Given the description of an element on the screen output the (x, y) to click on. 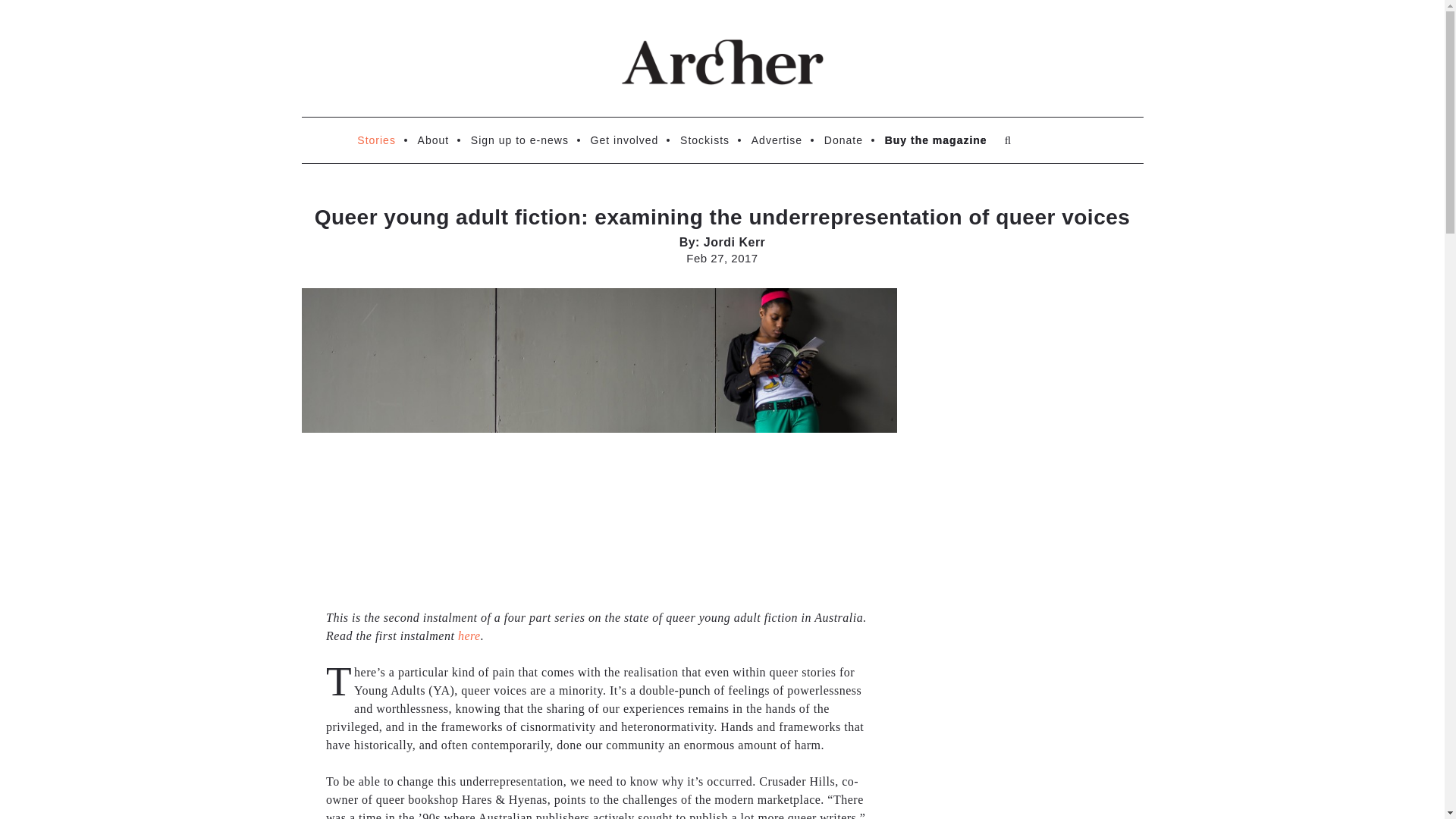
Stockists (704, 139)
here (469, 635)
Buy the magazine (936, 139)
Stockists (704, 139)
Advertise (776, 139)
Sign up to e-news (519, 139)
Archer Magazine (722, 61)
Get involved (625, 139)
